Given the description of an element on the screen output the (x, y) to click on. 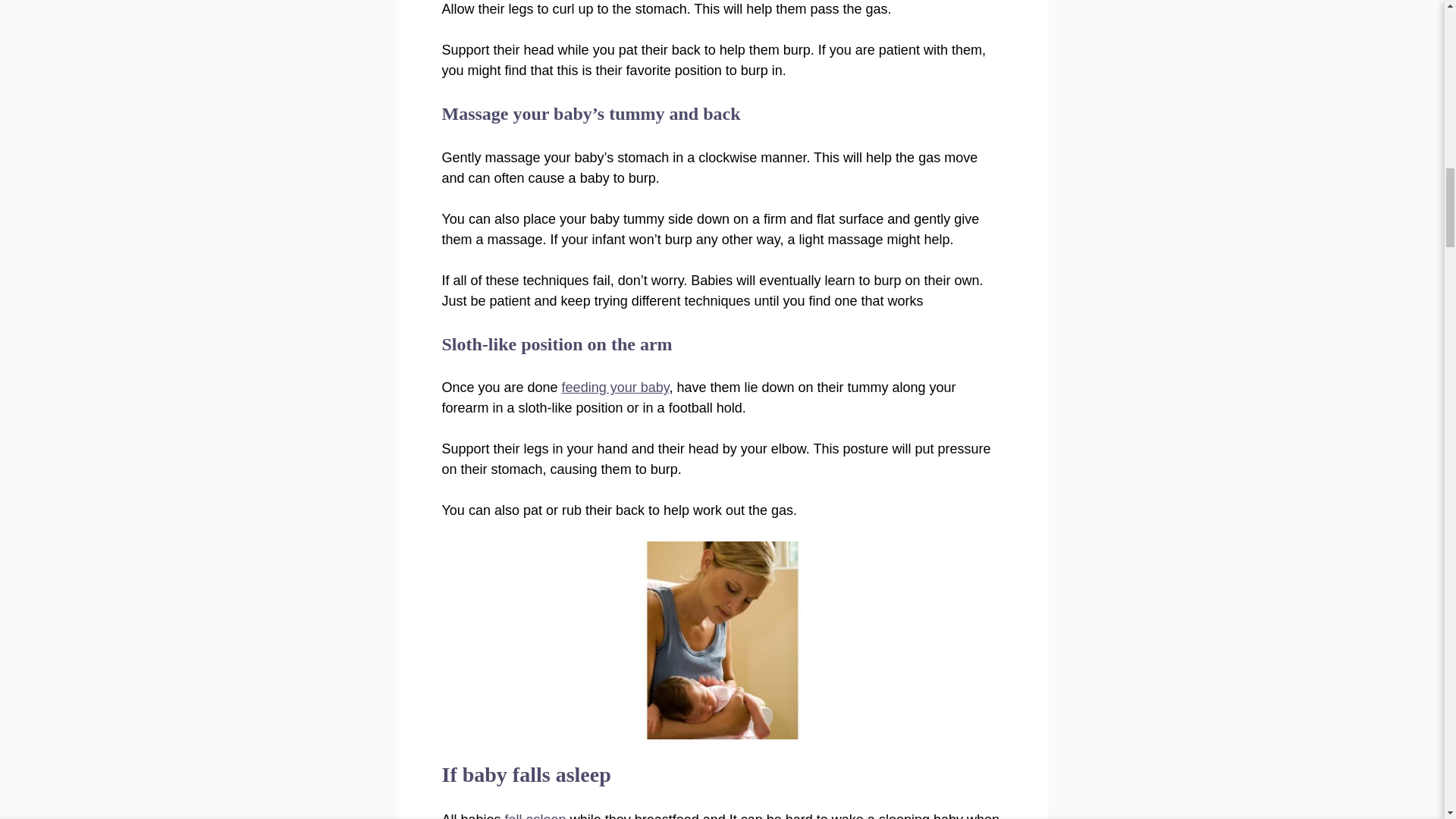
feeding your baby (615, 387)
fall asleep (535, 815)
